Given the description of an element on the screen output the (x, y) to click on. 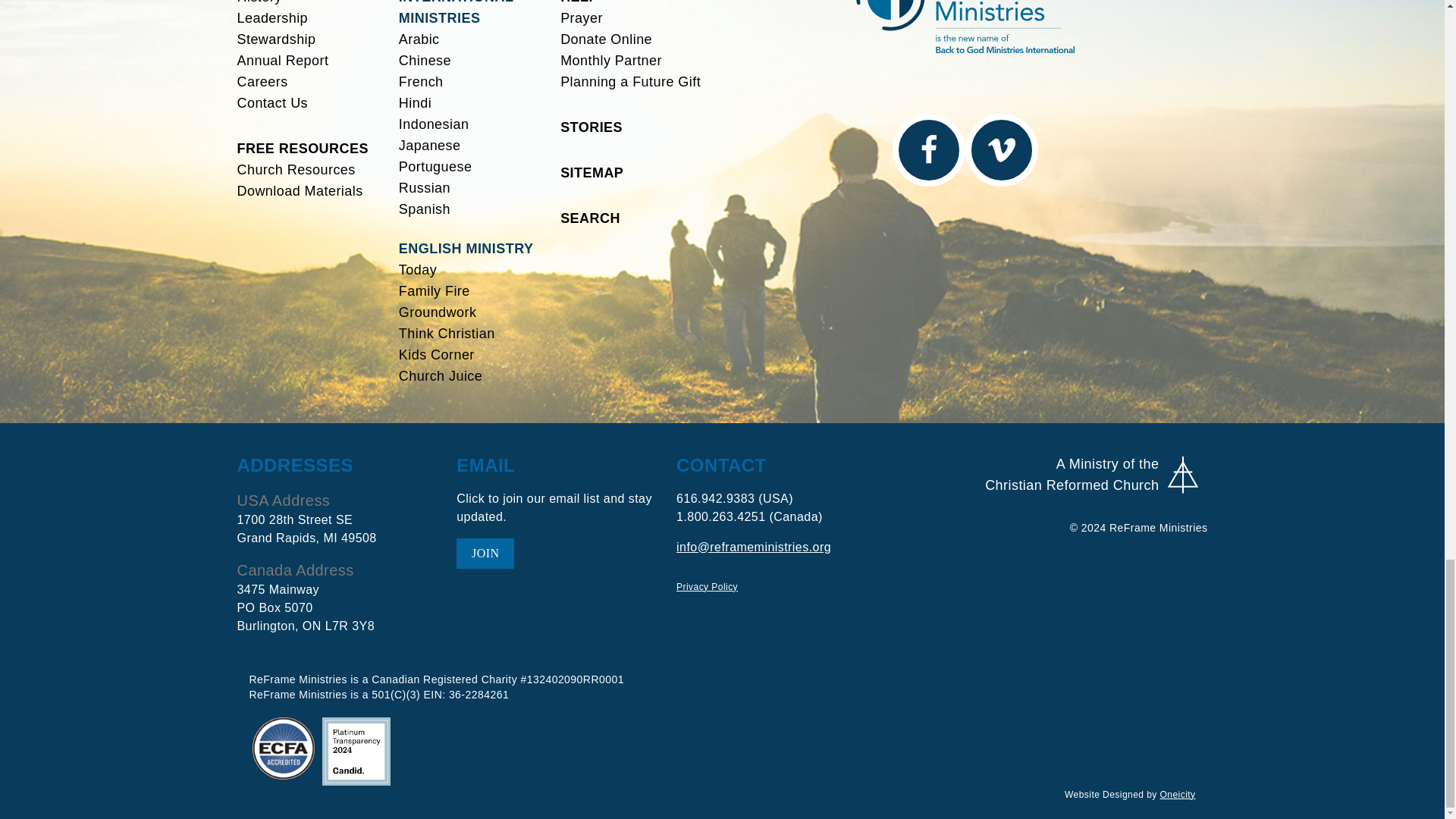
ReFrame Ministries is accredited by the ECFA. (282, 747)
Platinum Transparency Seal of Approval from Guide Star (355, 750)
Return Home (964, 26)
Facebook (927, 149)
Vimeo (999, 149)
